Given the description of an element on the screen output the (x, y) to click on. 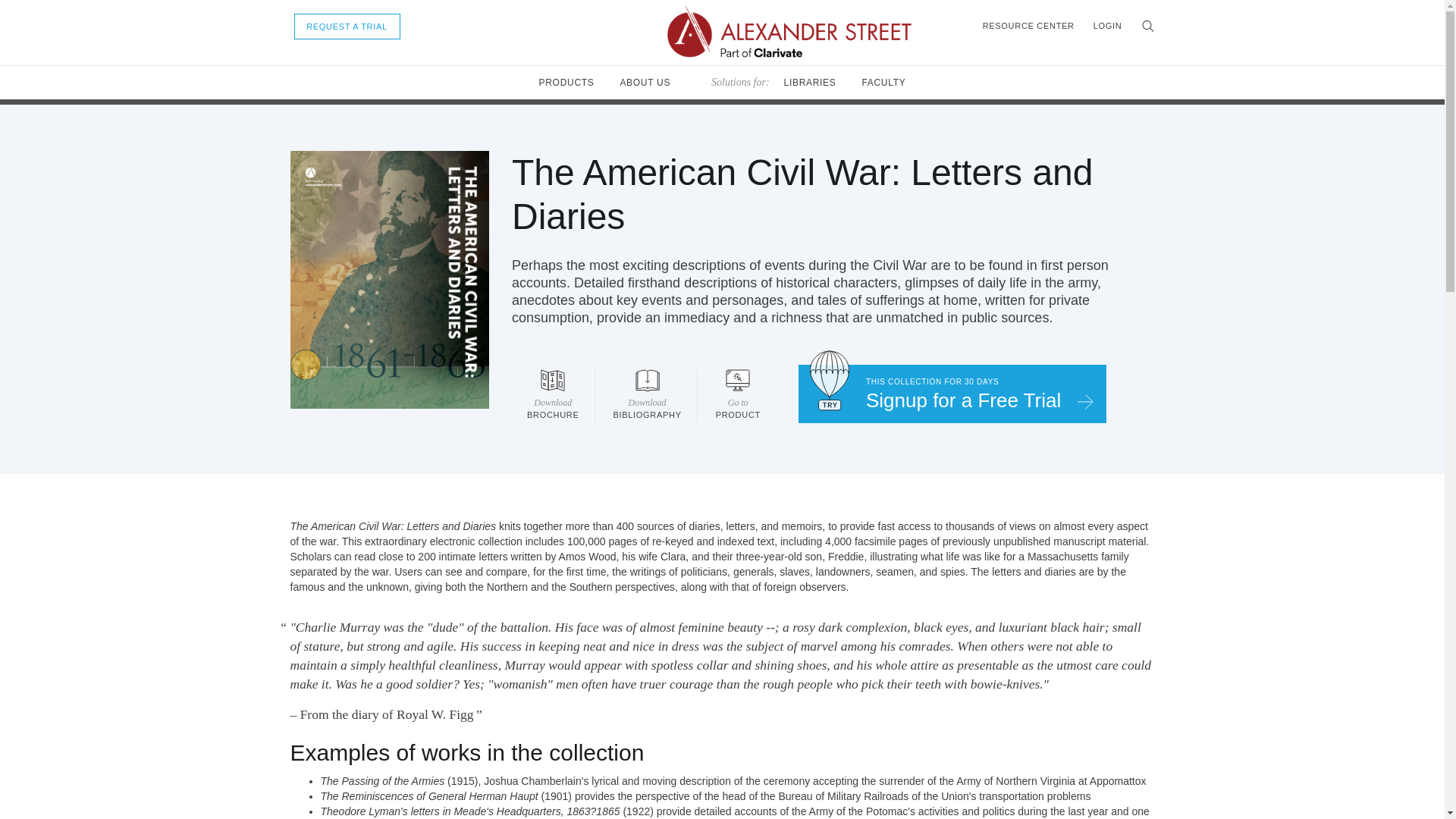
PRODUCTS (566, 82)
FACULTY (883, 82)
RESOURCE CENTER (1028, 25)
Home (301, 95)
ABOUT US (951, 393)
Collections (644, 82)
LIBRARIES (415, 95)
REQUEST A TRIAL (810, 82)
